Given the description of an element on the screen output the (x, y) to click on. 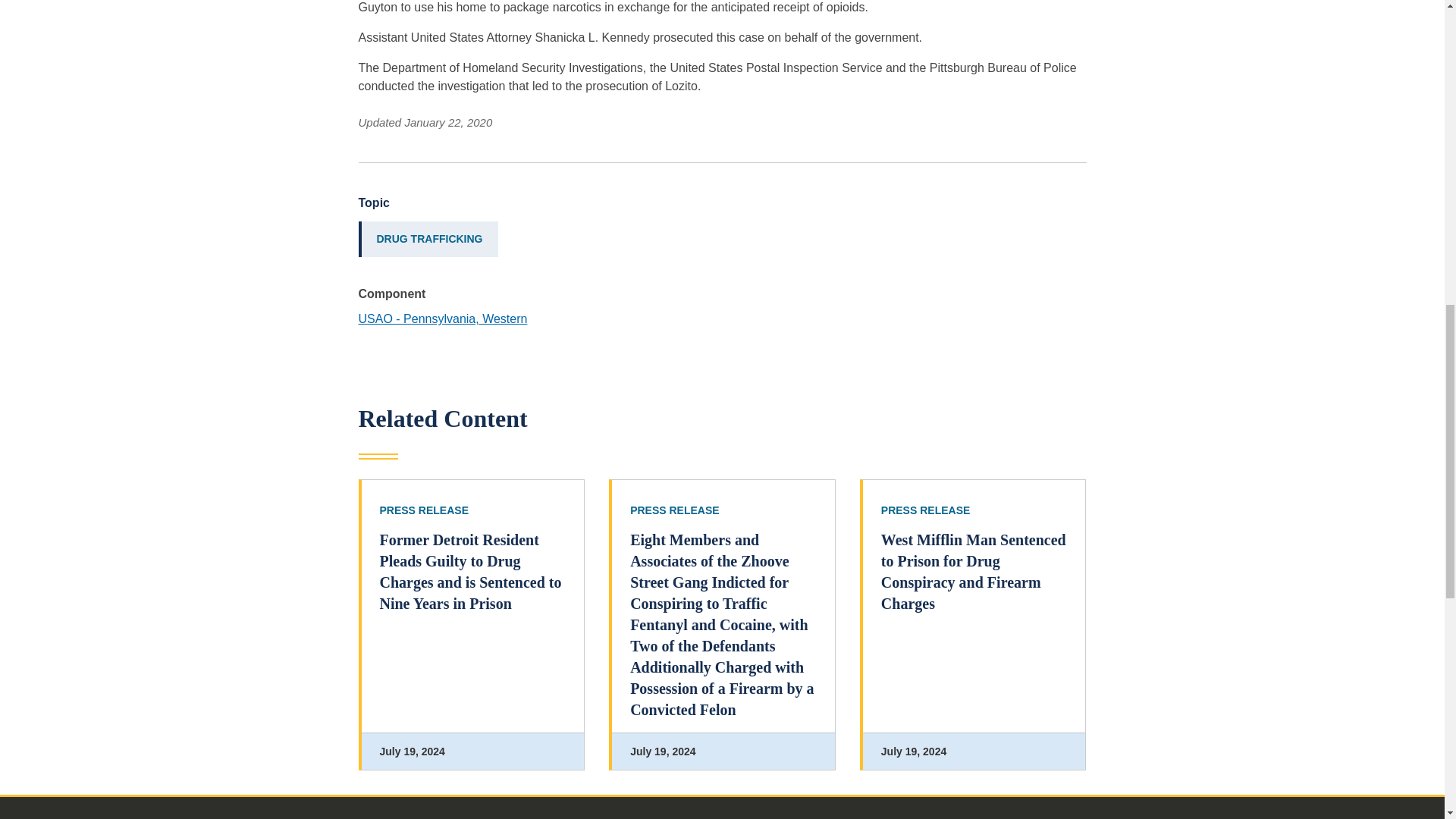
USAO - Pennsylvania, Western (442, 318)
